Given the description of an element on the screen output the (x, y) to click on. 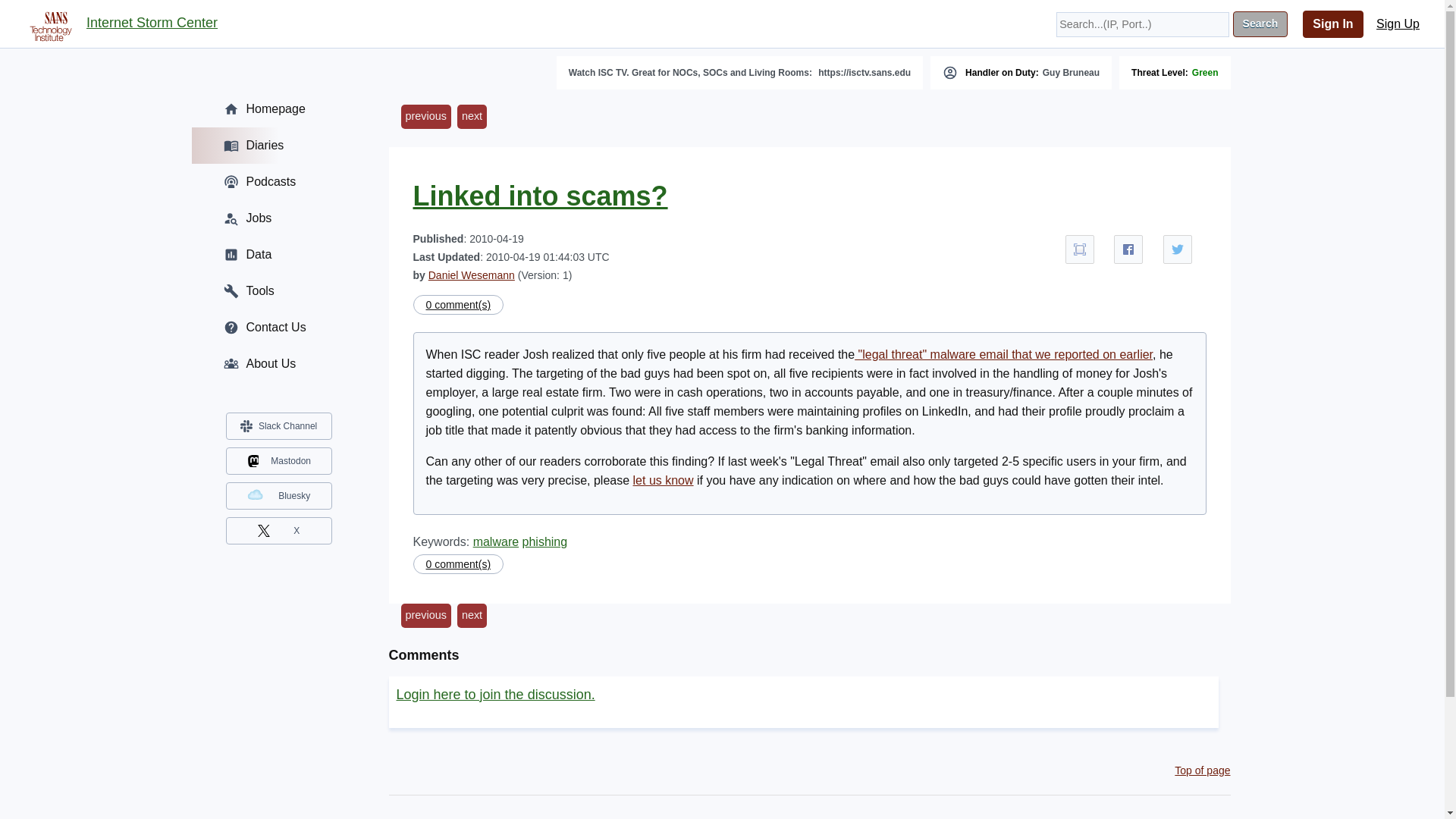
Share on Facebook (1127, 249)
Guy Bruneau (1070, 72)
let us know (663, 480)
phishing (544, 541)
Login here to join the discussion. (495, 694)
malware (495, 541)
Daniel Wesemann (471, 275)
Data (277, 254)
next (471, 116)
Podcasts (277, 181)
Search (1260, 23)
next (471, 615)
Homepage (277, 108)
Linked into scams? (539, 195)
Sign In (1332, 24)
